Given the description of an element on the screen output the (x, y) to click on. 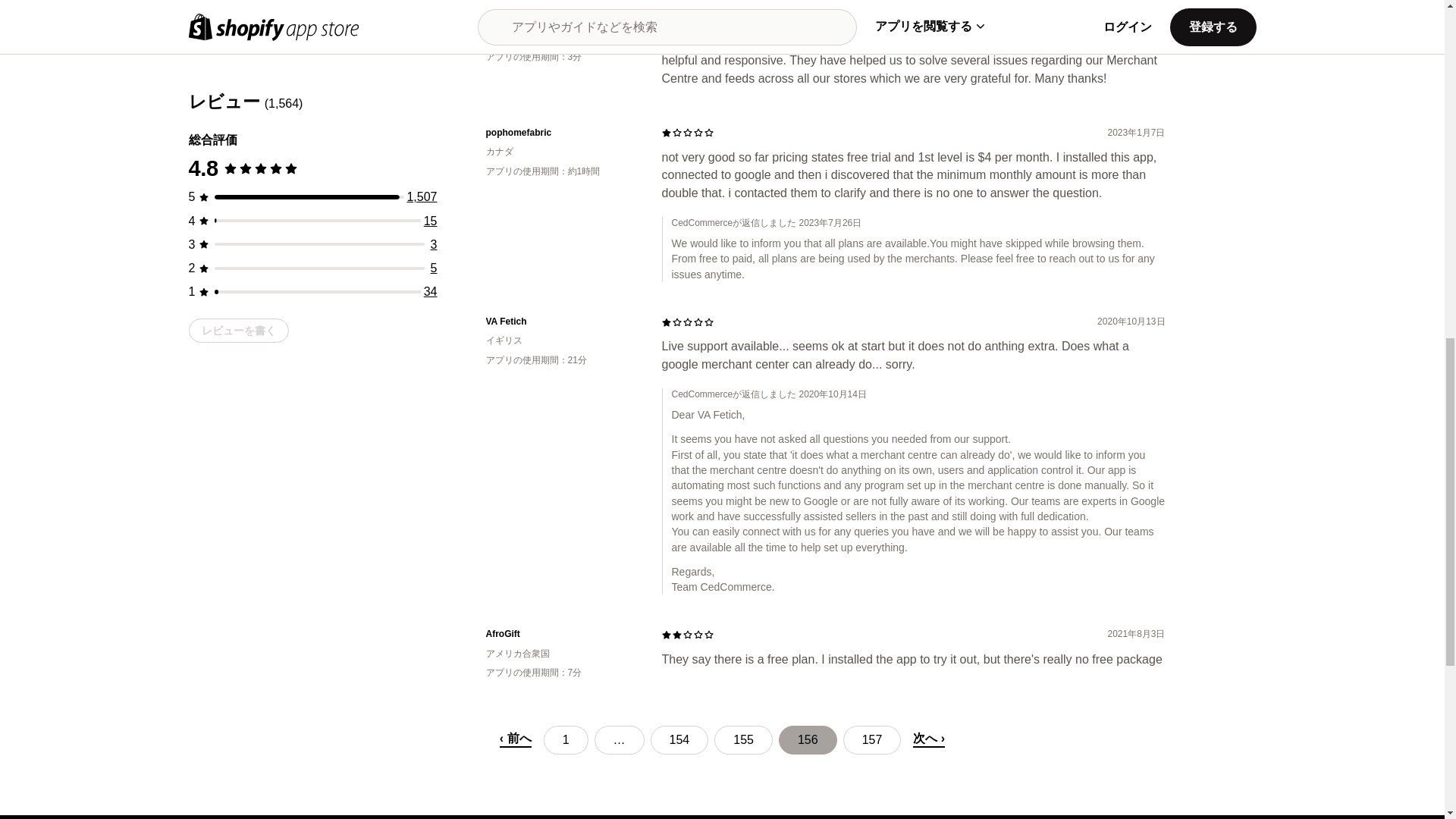
pophomefabric (560, 132)
VA Fetich (560, 321)
AfroGift (560, 634)
Fable England US (560, 18)
